Given the description of an element on the screen output the (x, y) to click on. 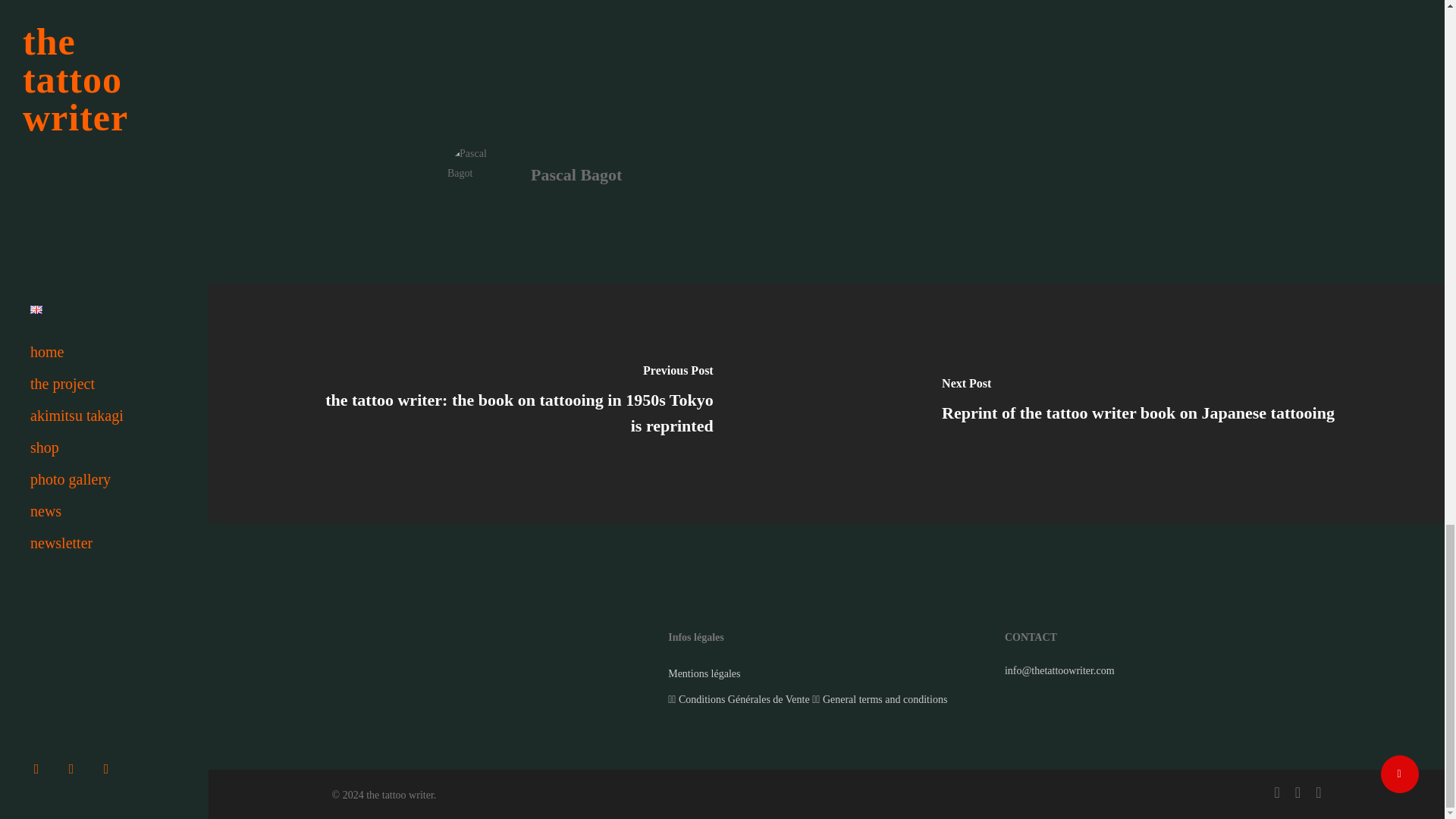
Pascal Bagot (576, 174)
